Given the description of an element on the screen output the (x, y) to click on. 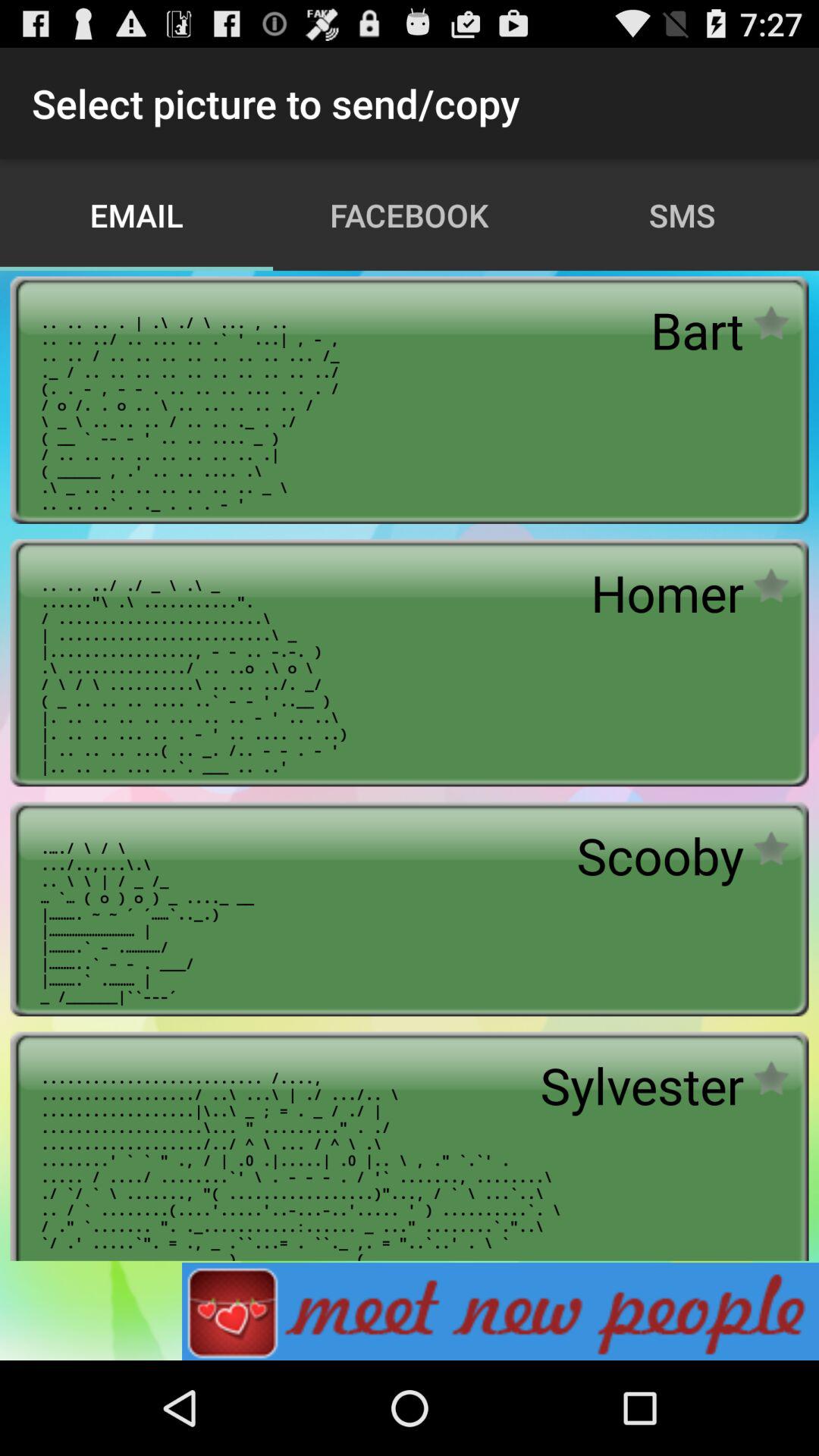
choose the item next to _ _ o icon (659, 855)
